Given the description of an element on the screen output the (x, y) to click on. 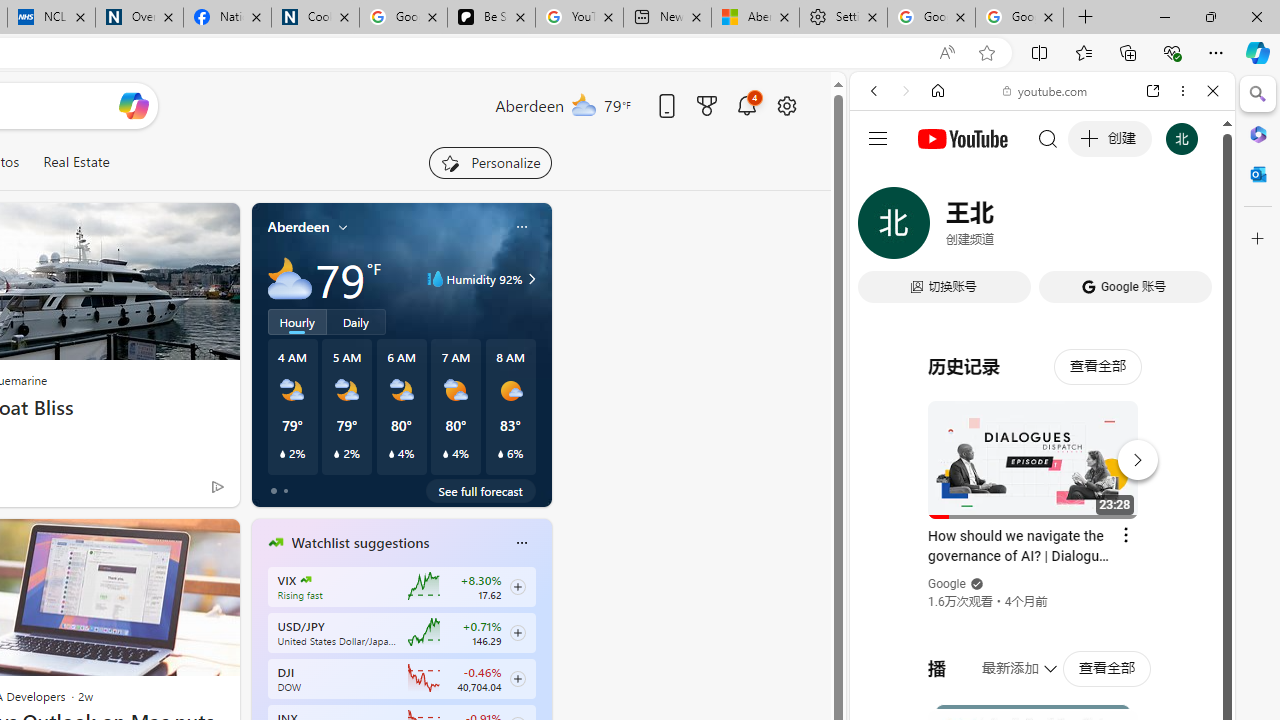
Mostly cloudy (289, 278)
Search the web (1051, 137)
tab-0 (273, 490)
Music (1042, 543)
IMAGES (939, 228)
This site scope (936, 180)
See more (214, 542)
